Given the description of an element on the screen output the (x, y) to click on. 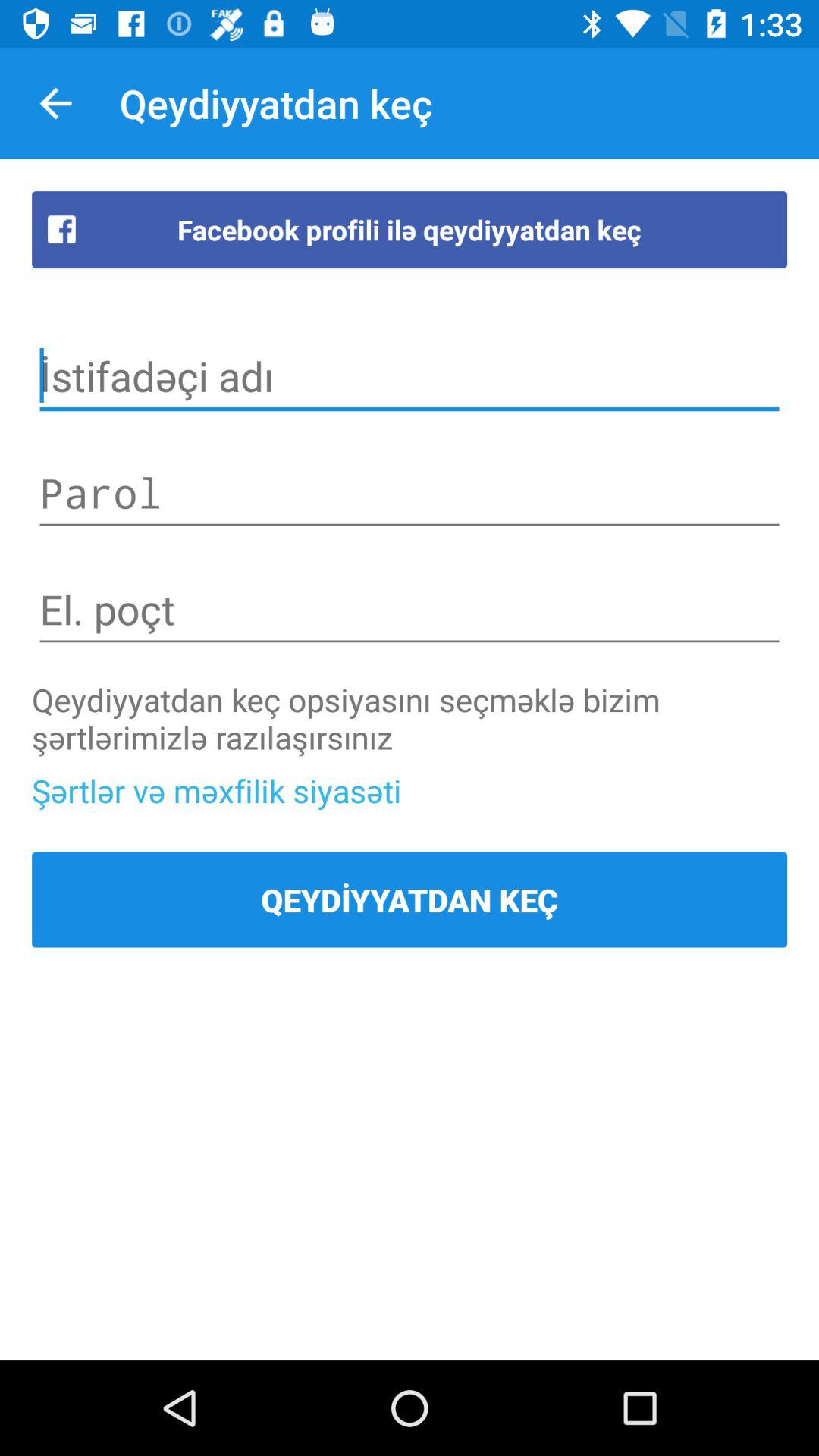
launch icon on the left (216, 790)
